Given the description of an element on the screen output the (x, y) to click on. 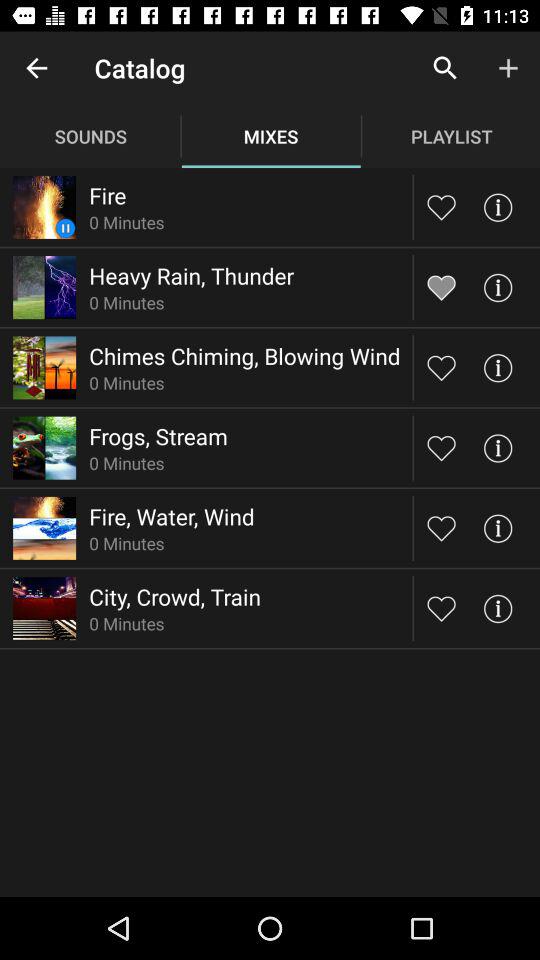
see info on selection (498, 206)
